Given the description of an element on the screen output the (x, y) to click on. 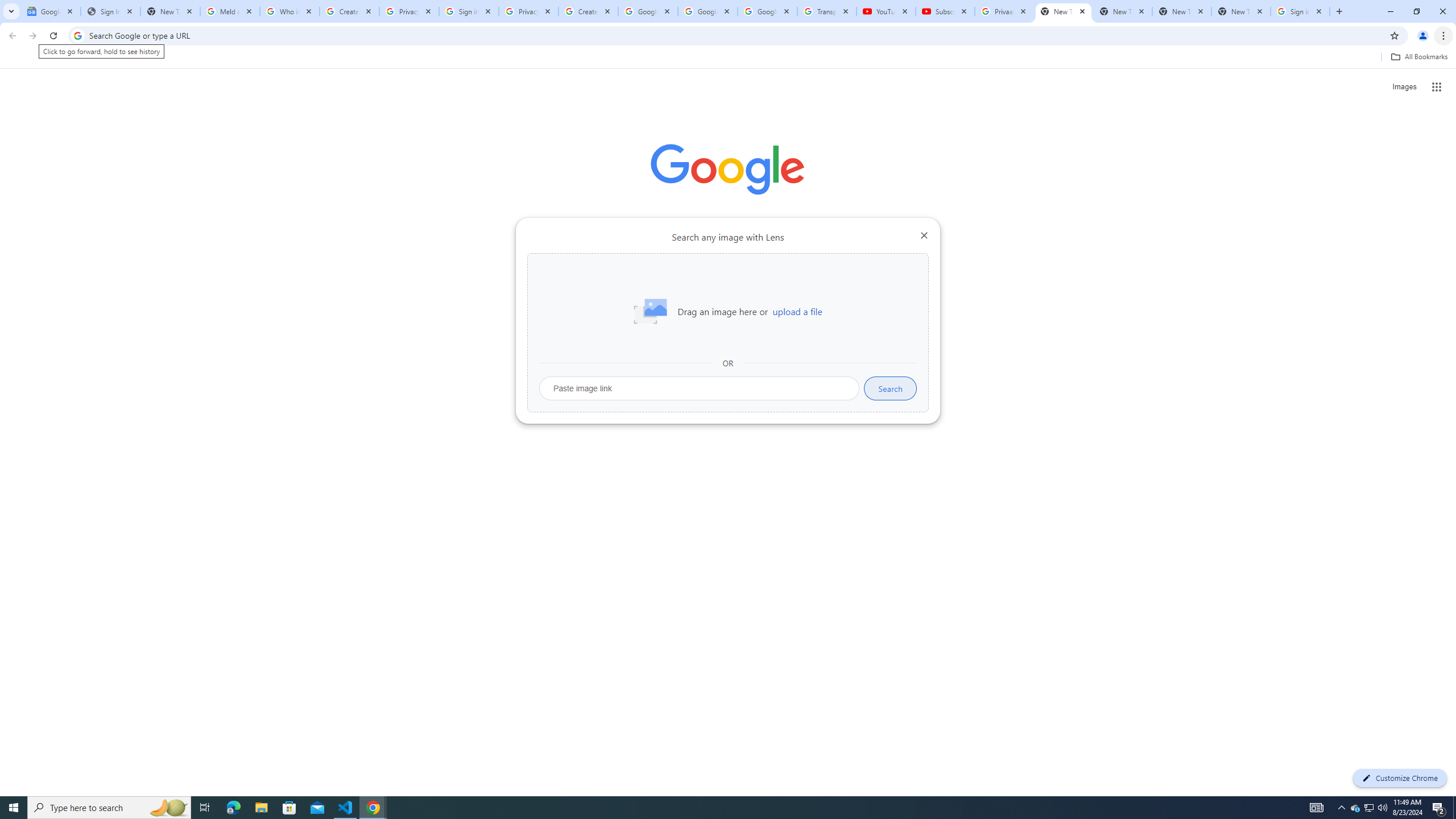
Sign in (1226, 17)
Print (59, 504)
Get Add-ins (59, 286)
